Given the description of an element on the screen output the (x, y) to click on. 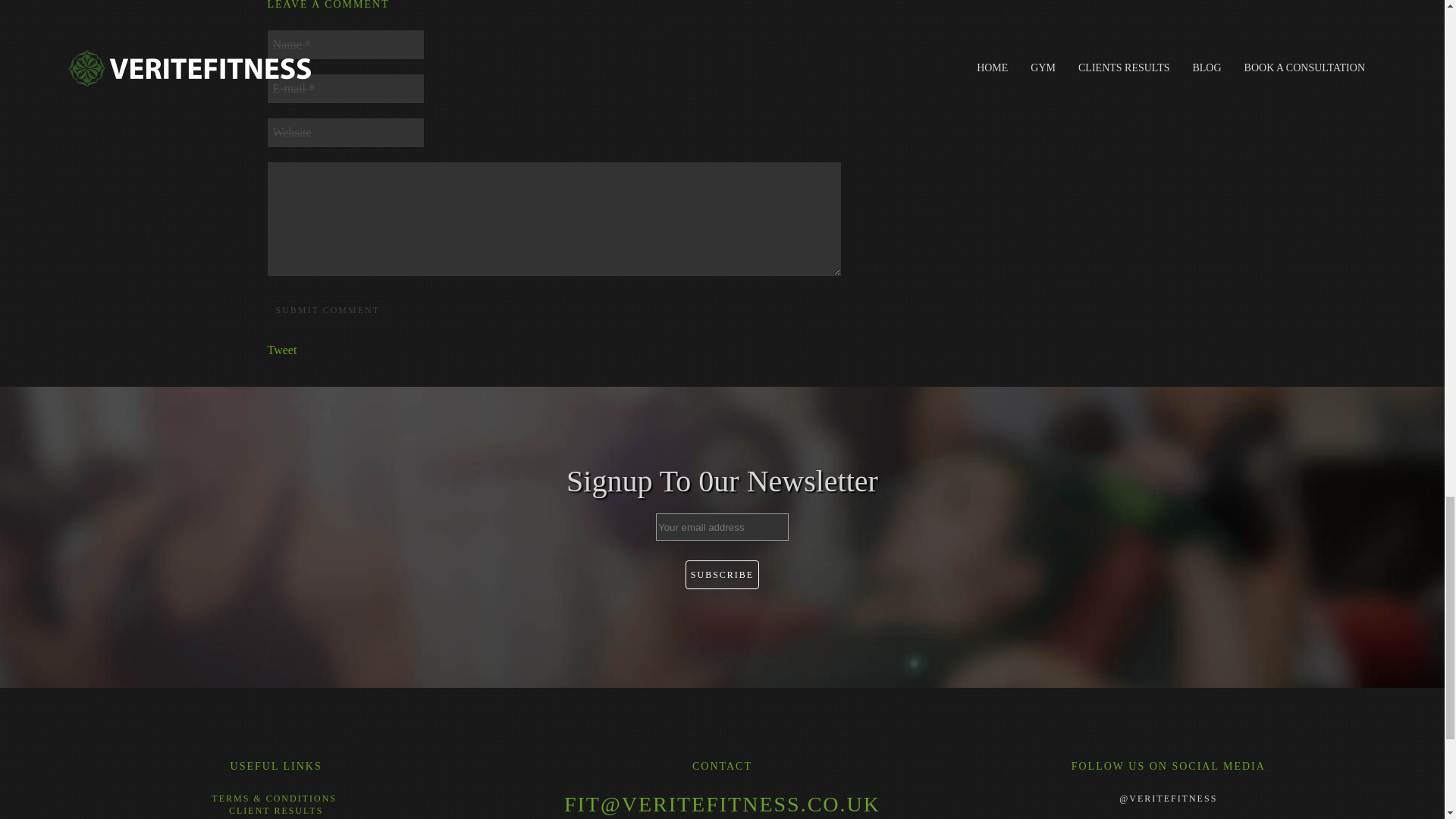
CLIENT RESULTS (275, 810)
Tweet (281, 349)
Subscribe (721, 574)
TESTIMONIALS (274, 818)
SUBMIT COMMENT (326, 309)
Subscribe (721, 574)
